Given the description of an element on the screen output the (x, y) to click on. 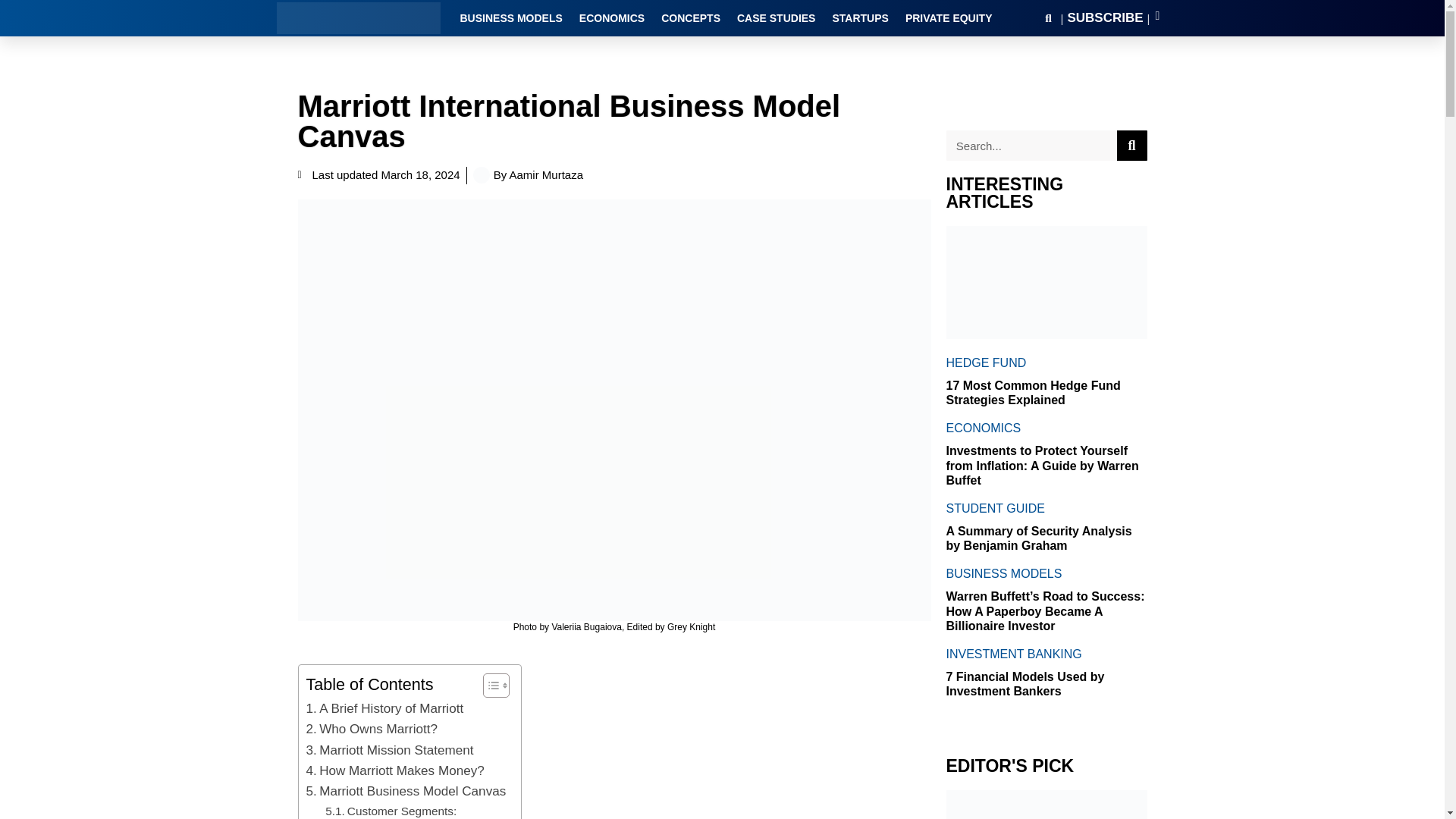
STARTUPS (859, 18)
PRIVATE EQUITY (948, 18)
CONCEPTS (690, 18)
A Brief History of Marriott (384, 708)
Last updated March 18, 2024 (378, 175)
Marriott Business Model Canvas (405, 791)
ECONOMICS (612, 18)
A Brief History of Marriott  (384, 708)
Marriott Mission Statement (389, 750)
Customer Segments: (390, 810)
